Given the description of an element on the screen output the (x, y) to click on. 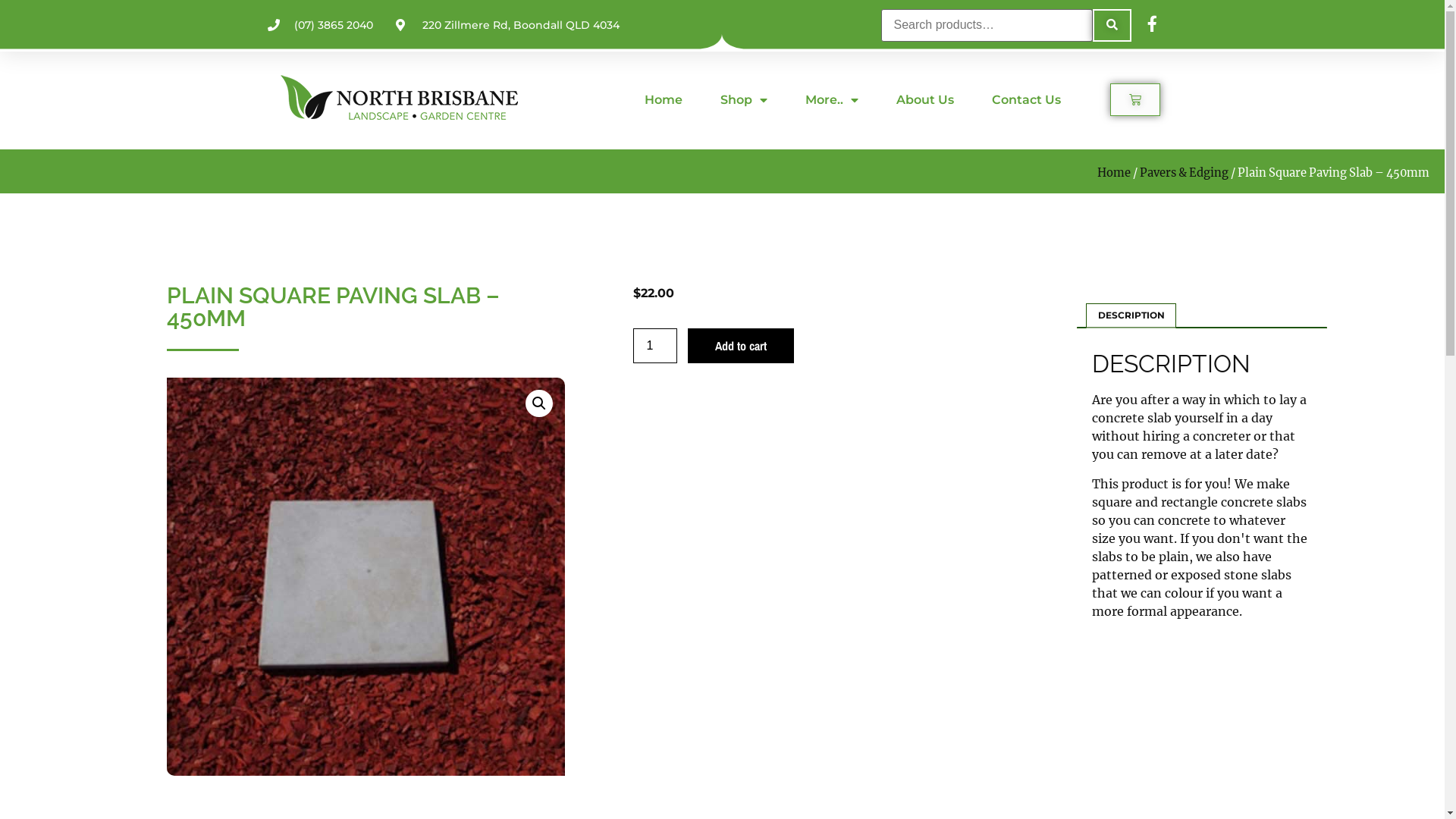
More.. Element type: text (831, 98)
Pavers & Edging Element type: text (1183, 171)
Home Element type: text (1113, 171)
(07) 3865 2040 Element type: text (319, 25)
Contact Us Element type: text (1025, 98)
About Us Element type: text (924, 98)
Add to cart Element type: text (740, 345)
Home Element type: text (663, 98)
plain-square-paving-slab-450mm Element type: hover (365, 576)
Search Element type: text (1111, 25)
220 Zillmere Rd, Boondall QLD 4034 Element type: text (507, 25)
DESCRIPTION Element type: text (1130, 315)
Shop Element type: text (743, 98)
